Given the description of an element on the screen output the (x, y) to click on. 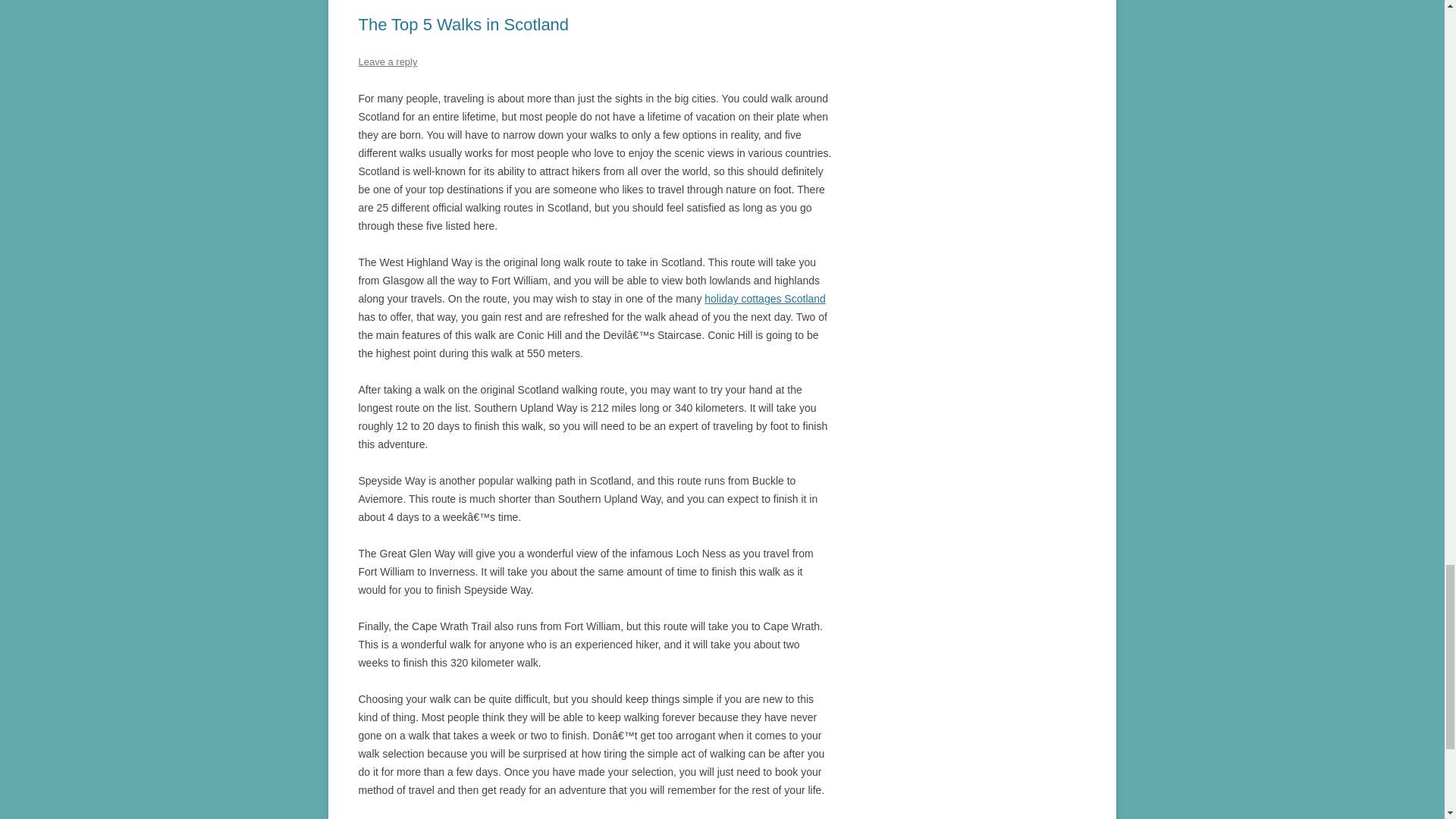
The Top 5 Walks in Scotland (463, 24)
Leave a reply (387, 61)
holiday cottages Scotland (764, 298)
